Given the description of an element on the screen output the (x, y) to click on. 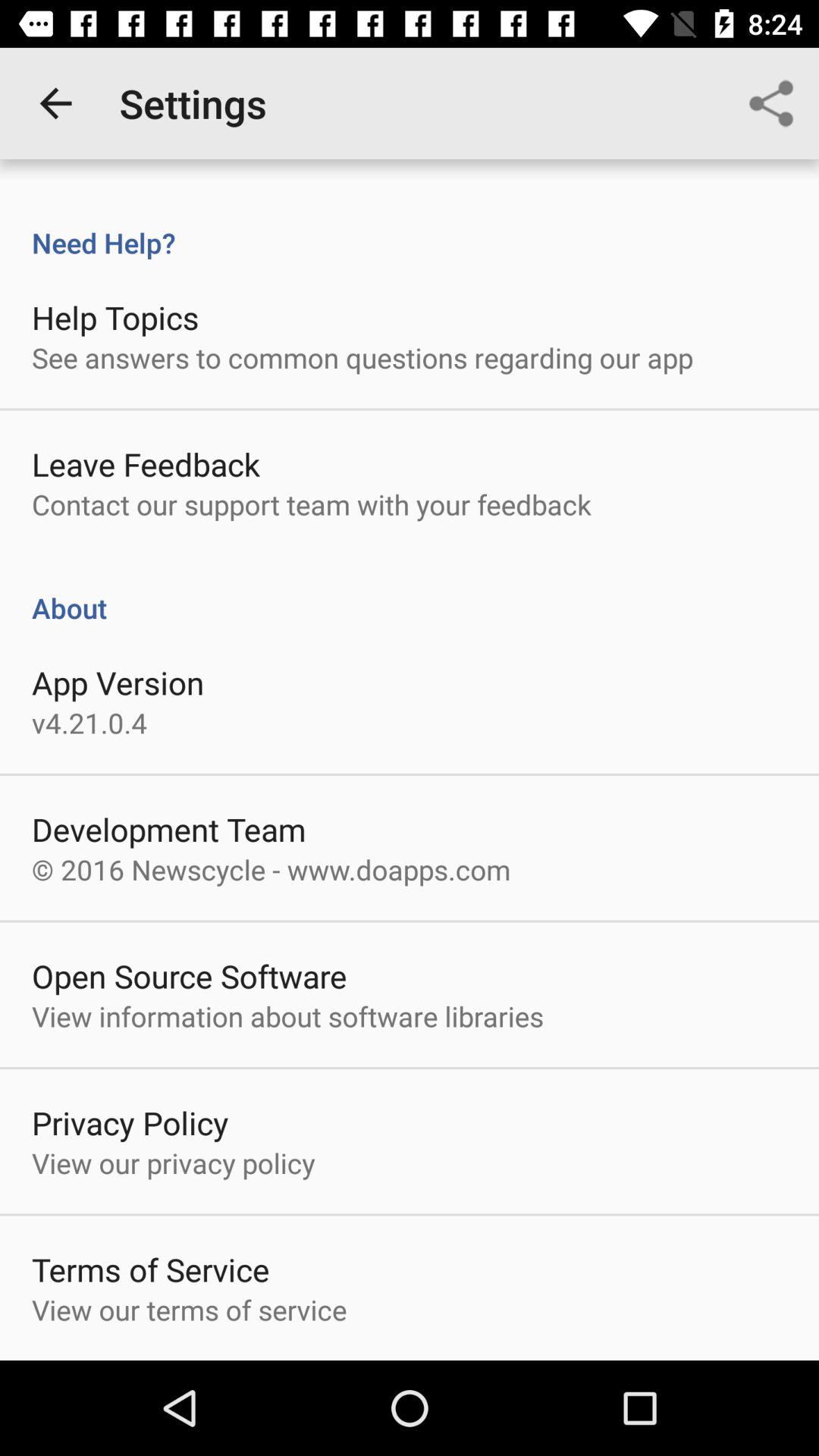
flip until the need help? item (409, 226)
